Given the description of an element on the screen output the (x, y) to click on. 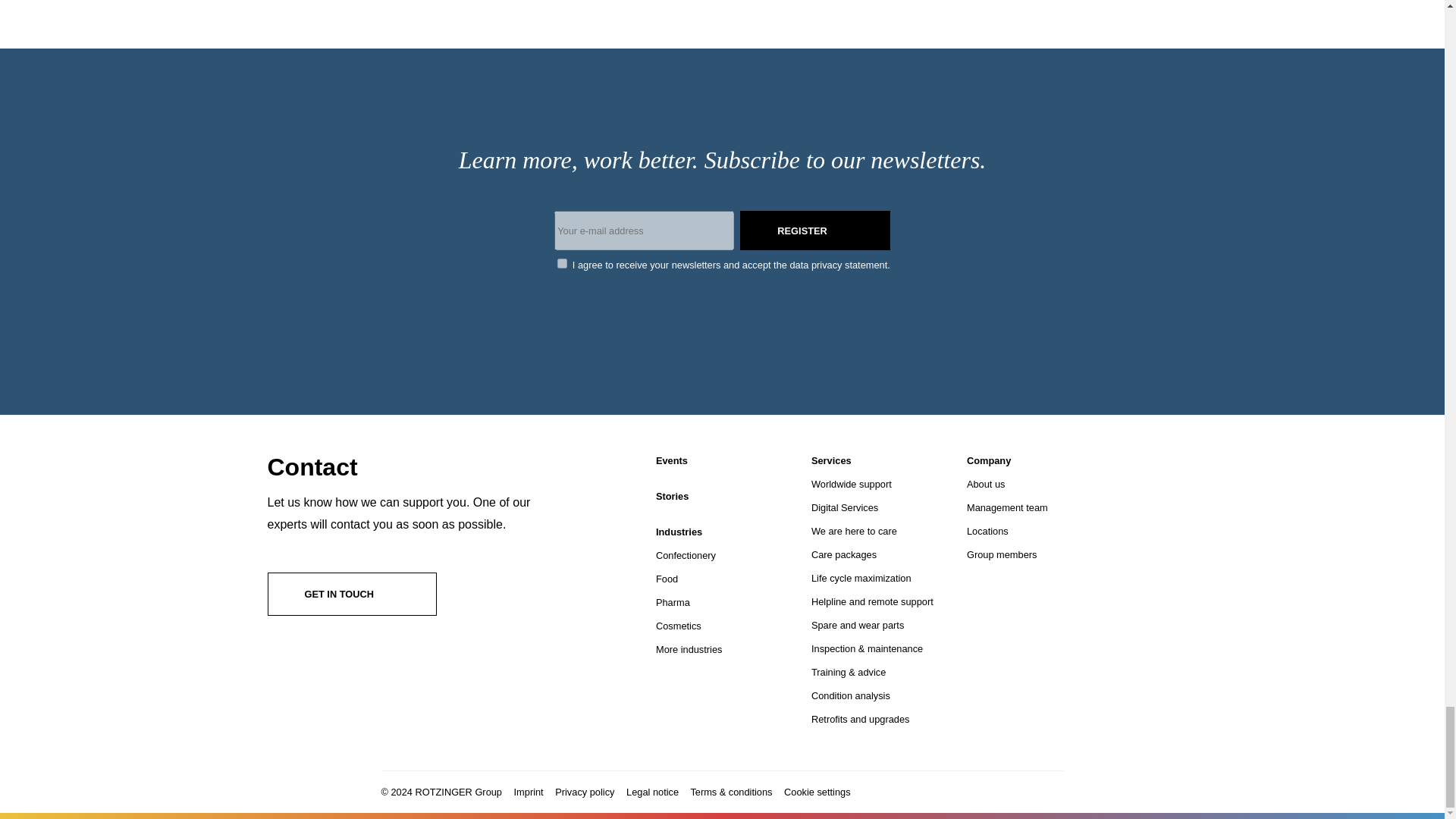
1 (562, 263)
